Given the description of an element on the screen output the (x, y) to click on. 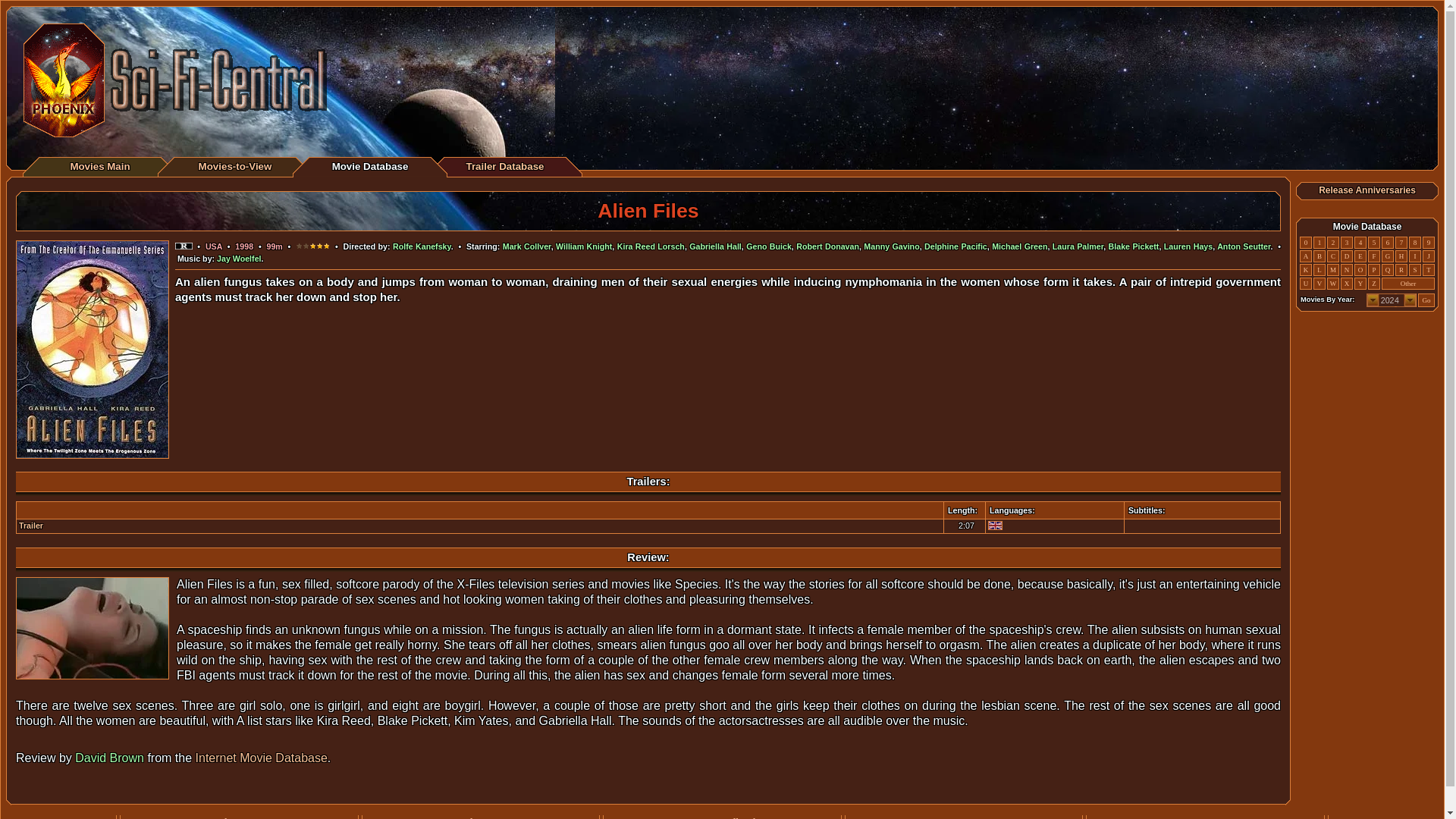
Movies Main (99, 165)
Trailer (30, 524)
Trailer Database (504, 165)
Movies-to-View (235, 165)
English (995, 524)
Release Anniversaries (1367, 190)
Internet Movie Database (261, 757)
